Given the description of an element on the screen output the (x, y) to click on. 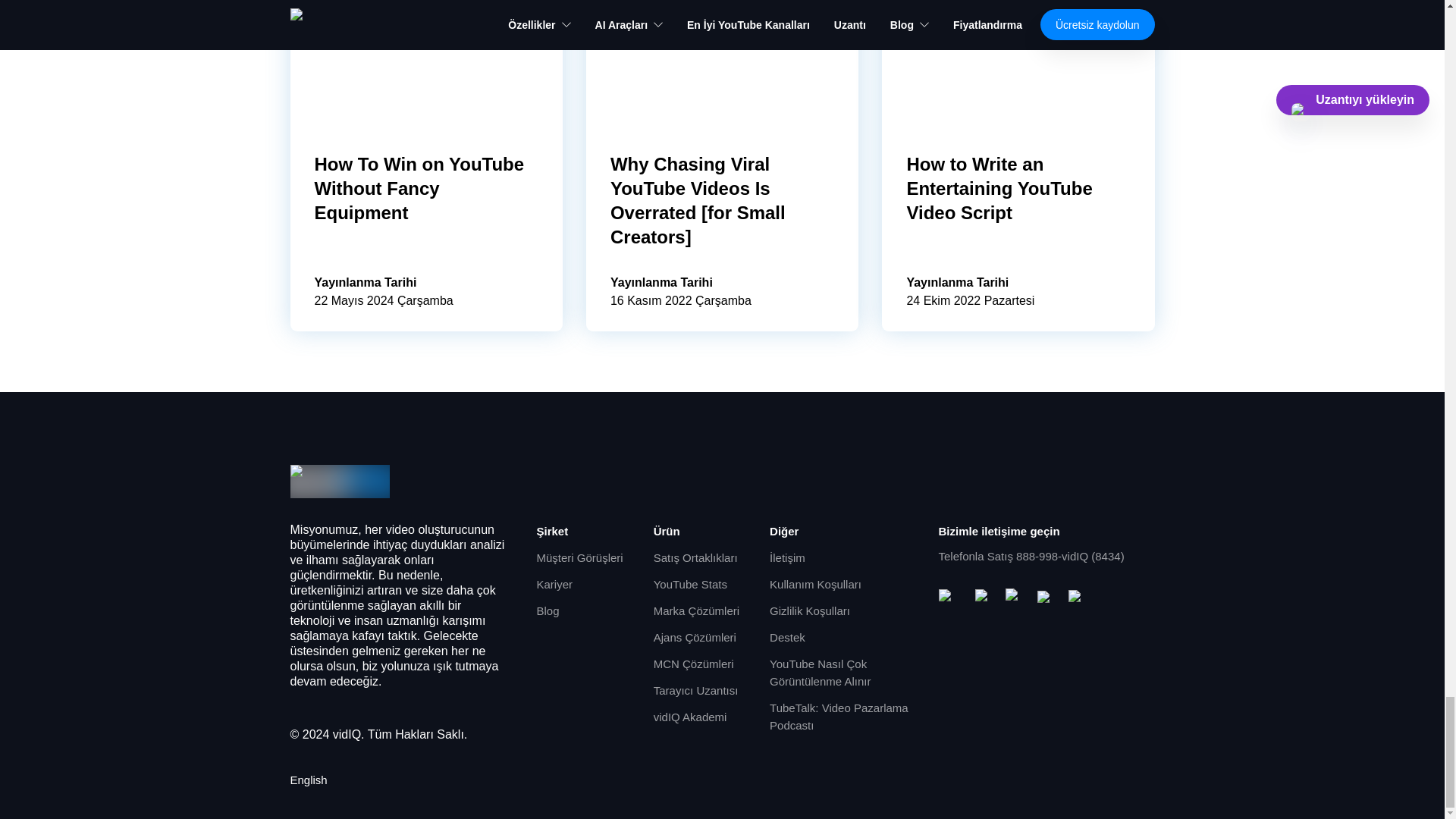
Twitter (1046, 598)
LinkedIn (1076, 598)
Facebook (983, 597)
YouTube (950, 597)
Instagram (1015, 598)
